Given the description of an element on the screen output the (x, y) to click on. 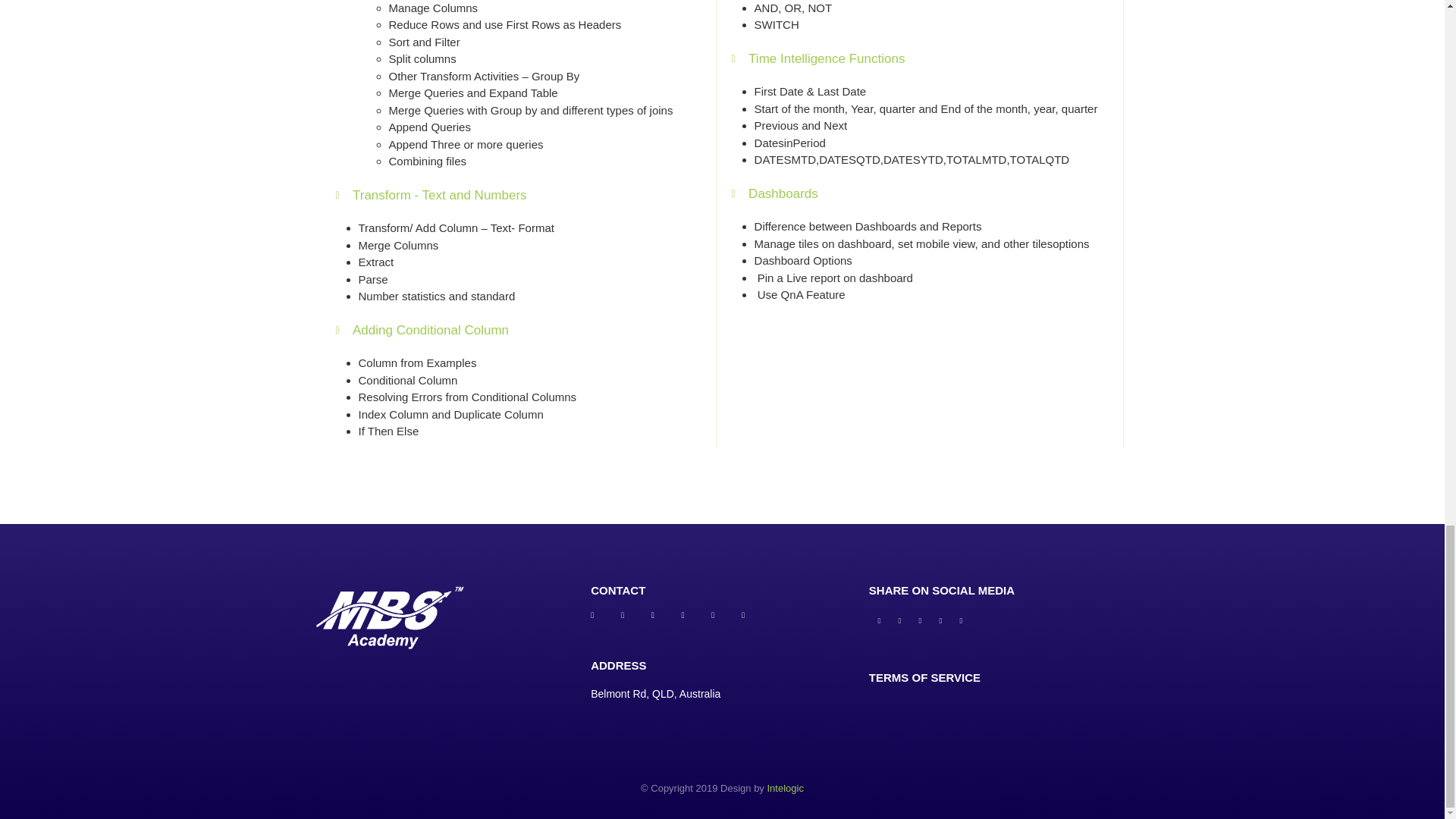
Intelogic (785, 787)
Belmont Rd, QLD, Australia (655, 693)
CONTACT (618, 590)
TERMS OF SERVICE (924, 676)
